Given the description of an element on the screen output the (x, y) to click on. 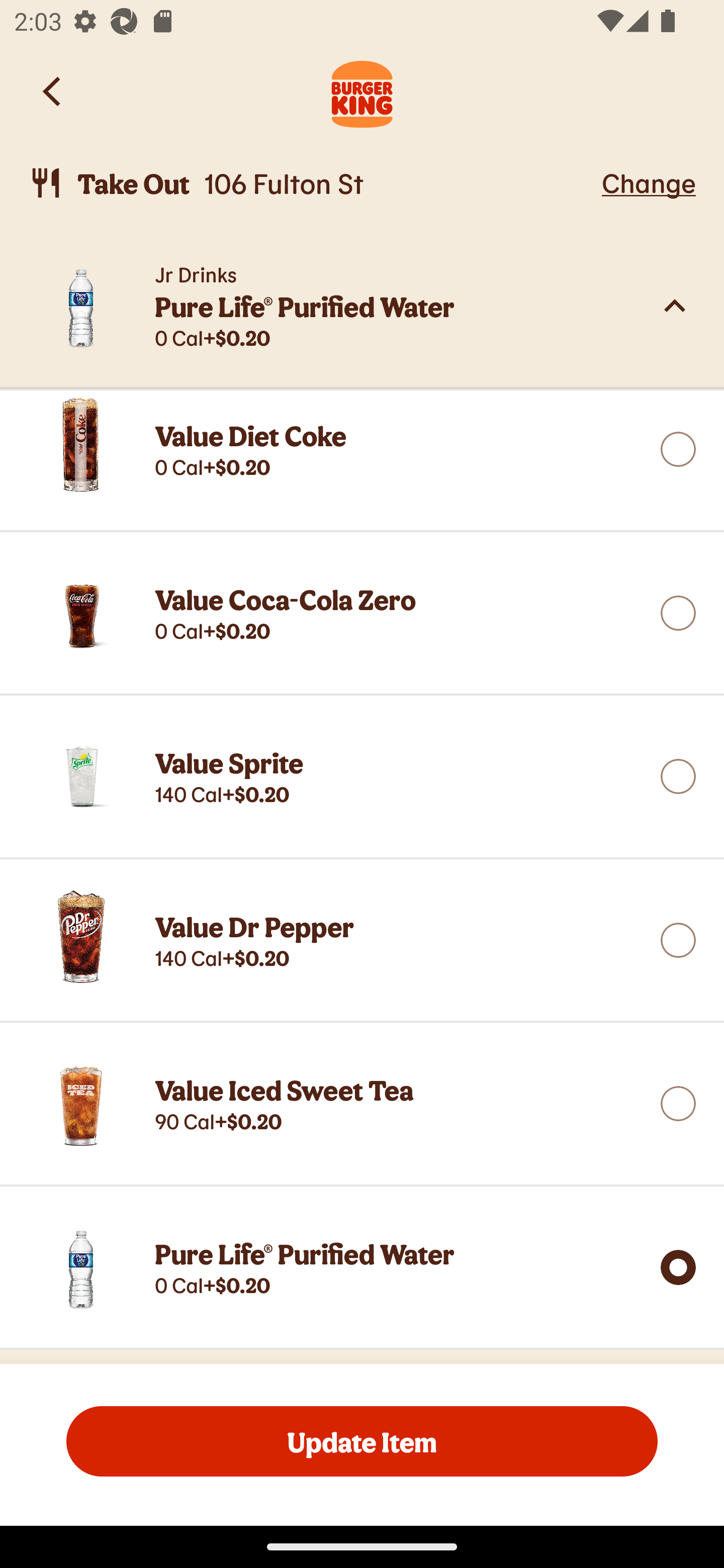
Burger King Logo. Navigate to Home (362, 91)
Back (52, 91)
Take Out, 106 Fulton St  Take Out 106 Fulton St (311, 183)
Change (648, 182)
Update Item (361, 1441)
